Given the description of an element on the screen output the (x, y) to click on. 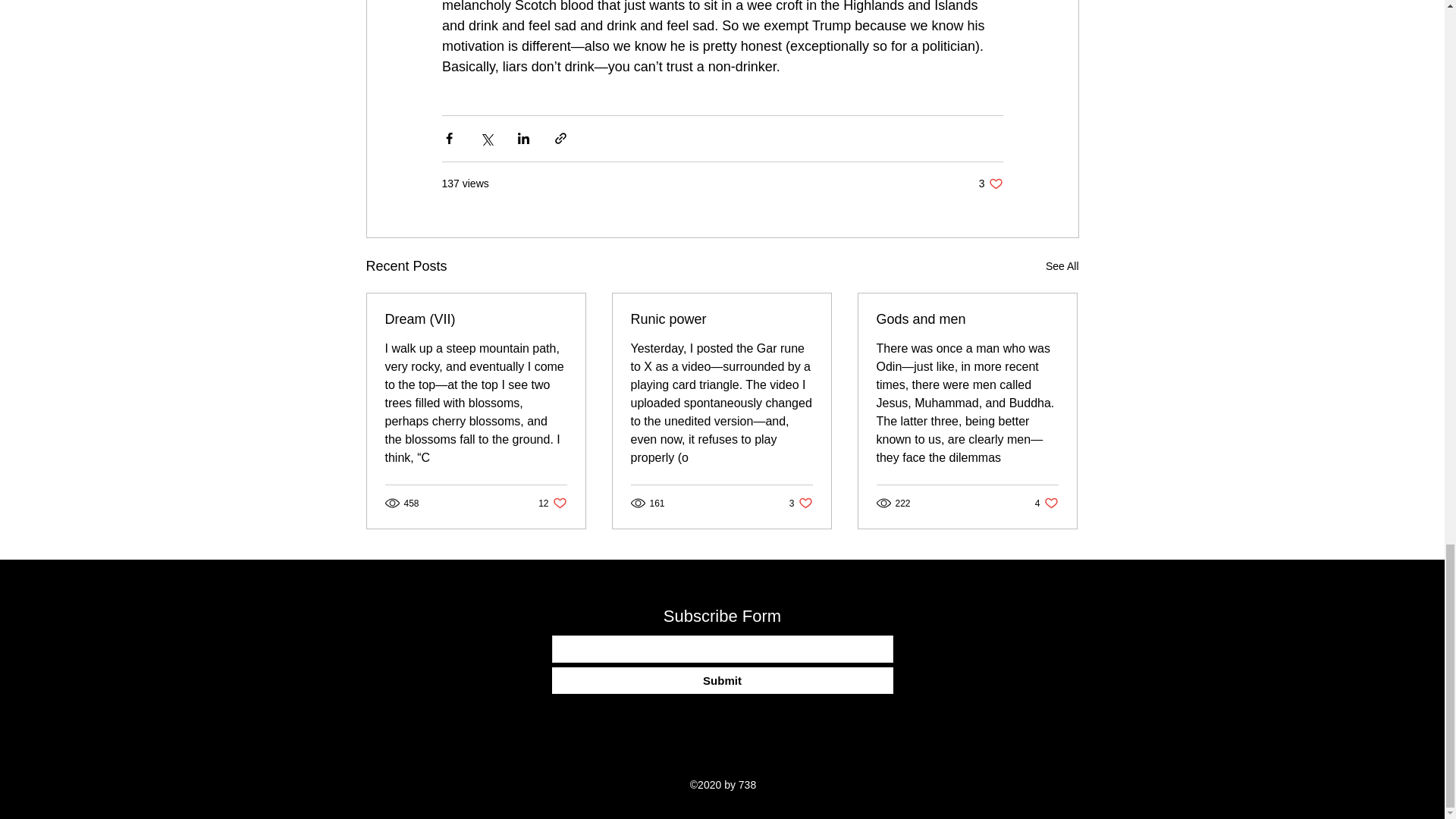
See All (1061, 266)
Gods and men (552, 503)
Submit (967, 319)
Runic power (722, 680)
